Given the description of an element on the screen output the (x, y) to click on. 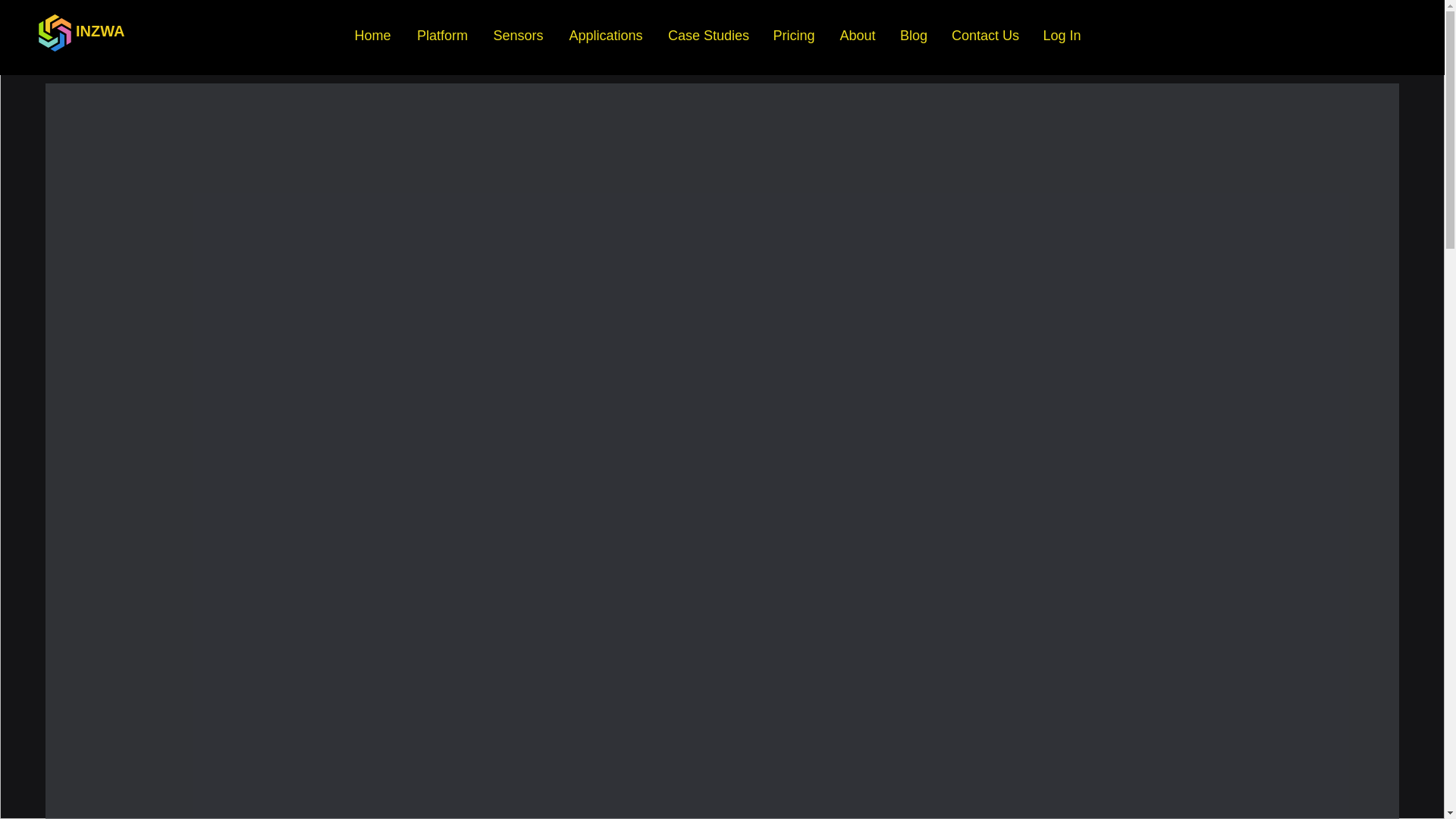
Platform (442, 35)
Home (372, 35)
Contact Us (984, 35)
Pricing (793, 35)
Applications (605, 35)
Sensors (517, 35)
About (857, 35)
Blog (913, 35)
INZWA (99, 30)
Case Studies (708, 35)
Log In (1061, 35)
